Given the description of an element on the screen output the (x, y) to click on. 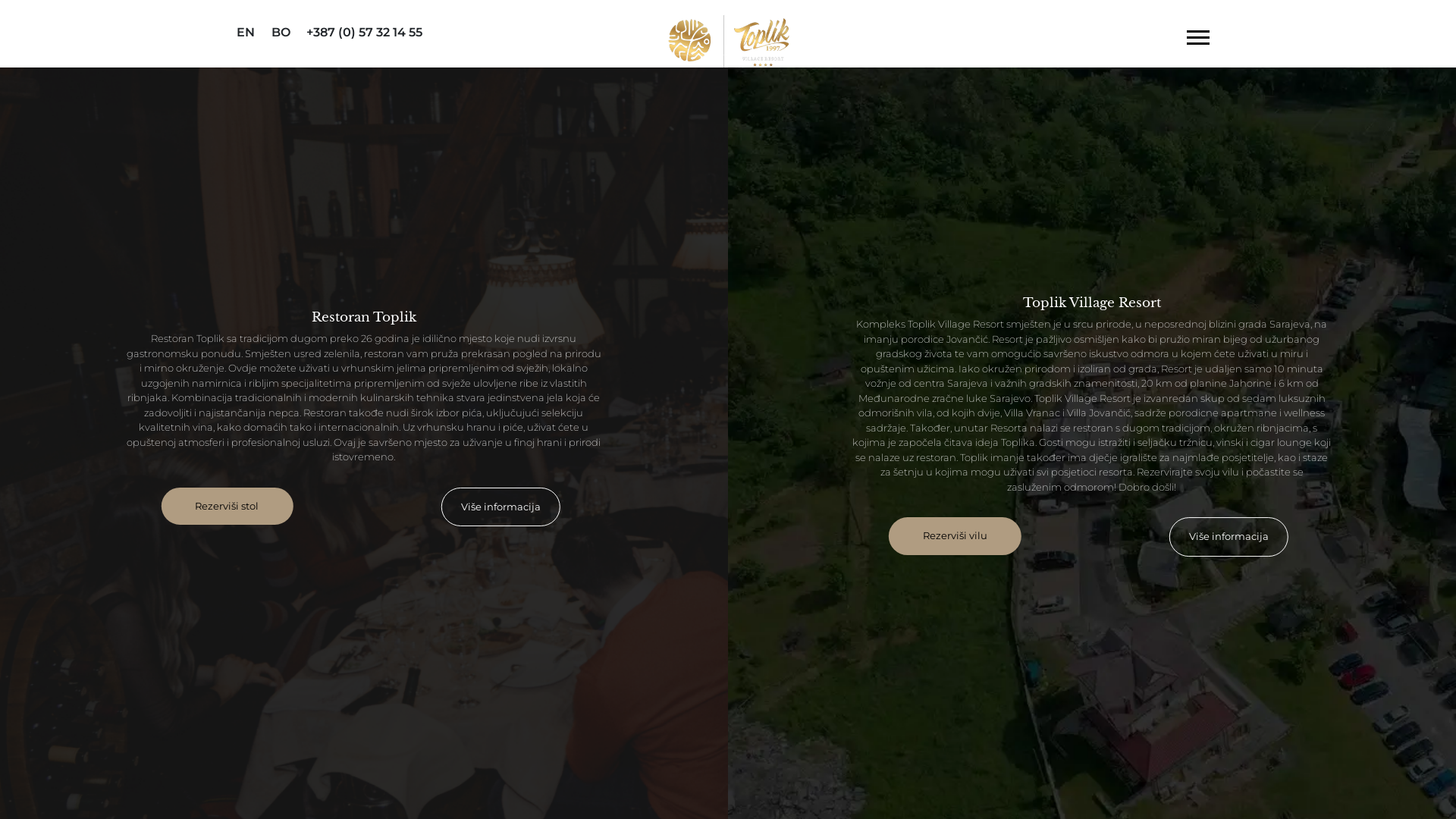
EN Element type: text (240, 32)
+387 (0) 57 32 14 55 Element type: text (383, 32)
BO Element type: text (275, 32)
